Given the description of an element on the screen output the (x, y) to click on. 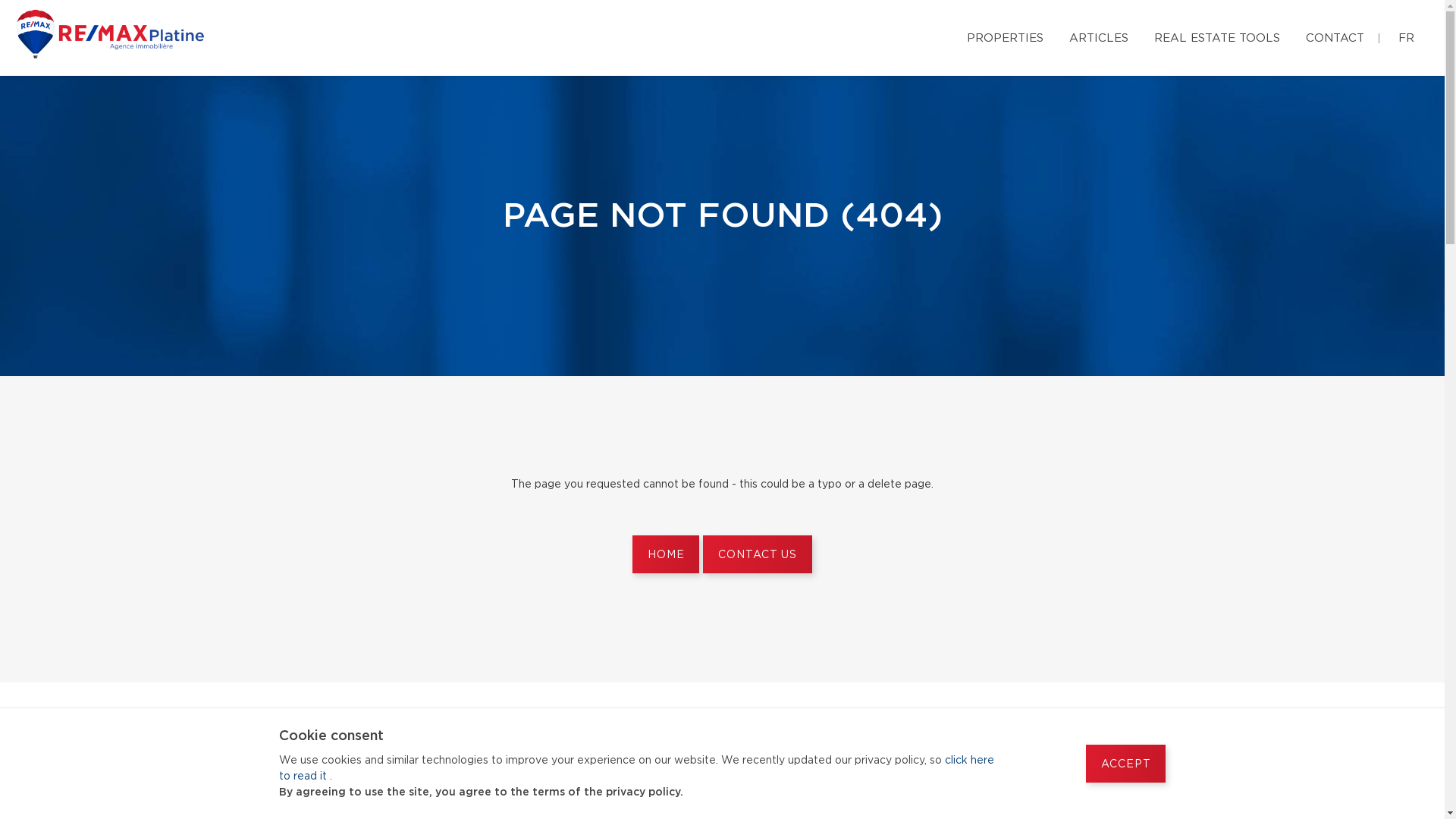
REAL ESTATE TOOLS Element type: text (1216, 37)
CONTACT Element type: text (1335, 37)
HOME Element type: text (665, 554)
click here to read it Element type: text (636, 768)
ARTICLES Element type: text (1098, 37)
CONTACT US Element type: text (756, 554)
FR Element type: text (1406, 37)
ACCEPT Element type: text (1125, 763)
PROPERTIES Element type: text (1005, 37)
